Given the description of an element on the screen output the (x, y) to click on. 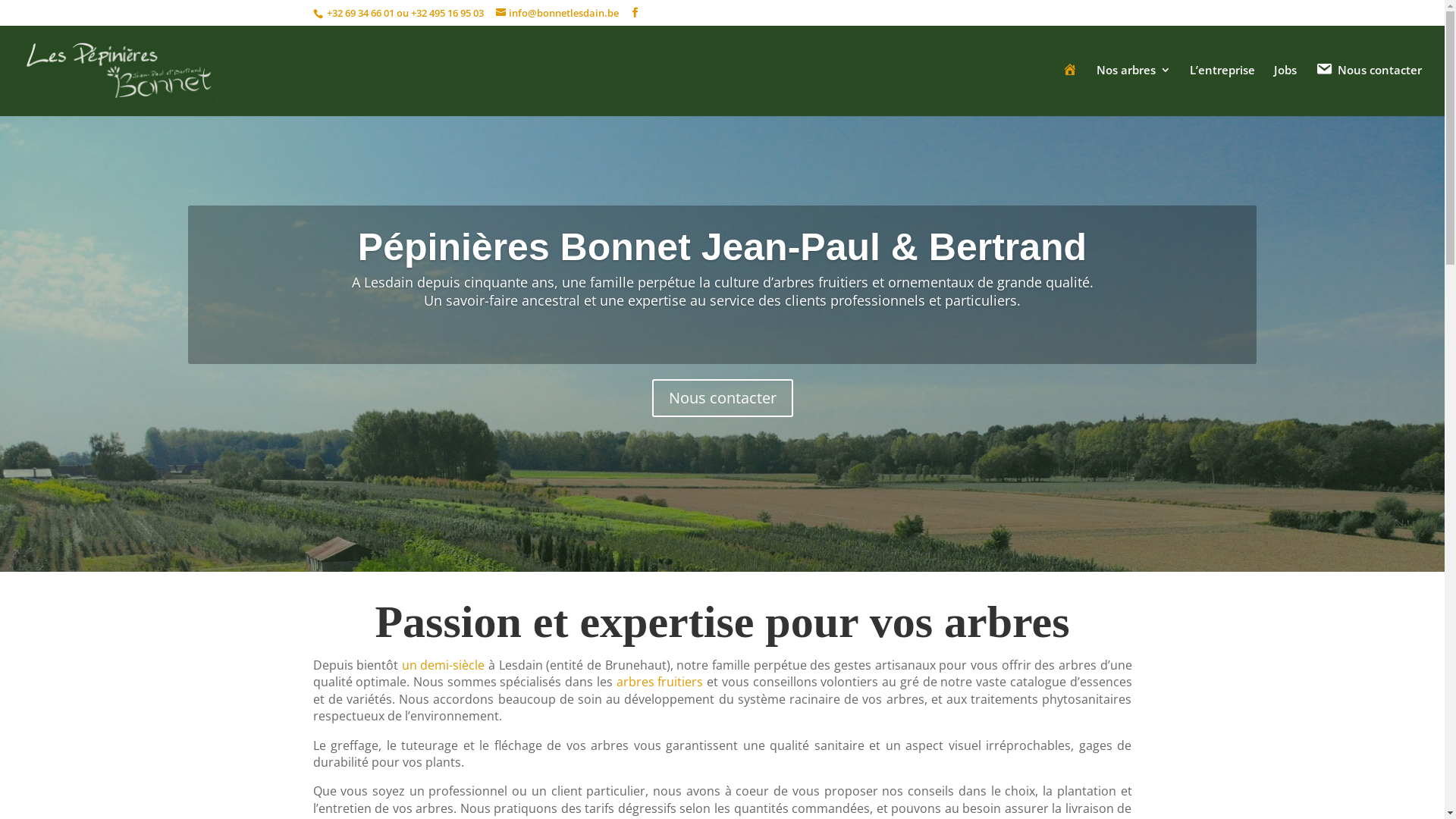
+32 495 16 95 03 Element type: text (447, 12)
Nous contacter Element type: text (1368, 90)
Nos arbres Element type: text (1133, 88)
+32 69 34 66 01 Element type: text (359, 12)
Nous contacter Element type: text (722, 398)
arbres fruitiers Element type: text (659, 681)
info@bonnetlesdain.be Element type: text (556, 12)
Jobs Element type: text (1285, 88)
Accueil Element type: text (1069, 89)
